Given the description of an element on the screen output the (x, y) to click on. 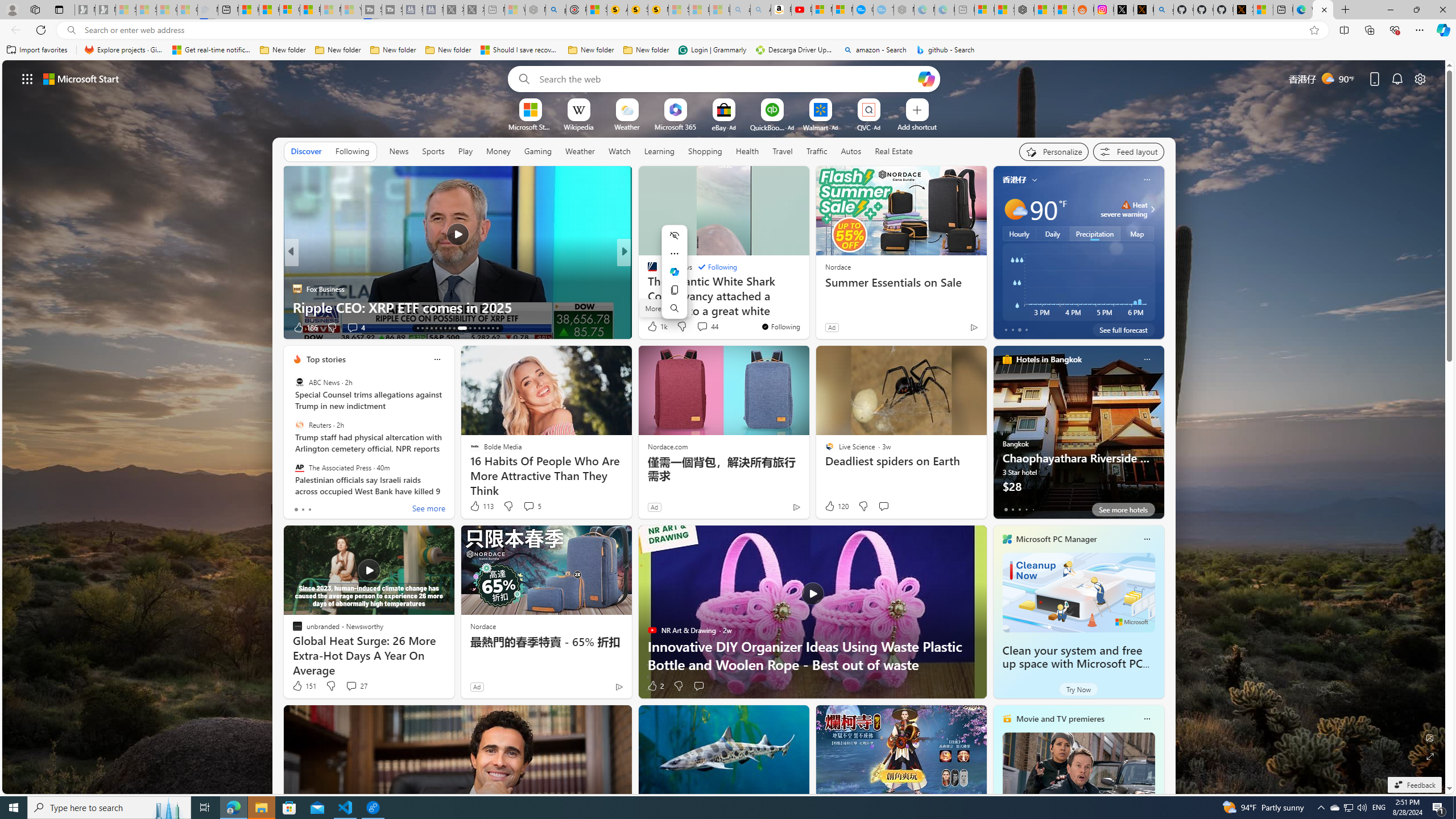
AutomationID: tab-19 (444, 328)
Learning (658, 151)
Close tab (1324, 9)
Health (746, 151)
Newsletter Sign Up - Sleeping (105, 9)
Hourly (1018, 233)
Top stories (325, 359)
Ask Copilot (674, 271)
help.x.com | 524: A timeout occurred (1143, 9)
